Given the description of an element on the screen output the (x, y) to click on. 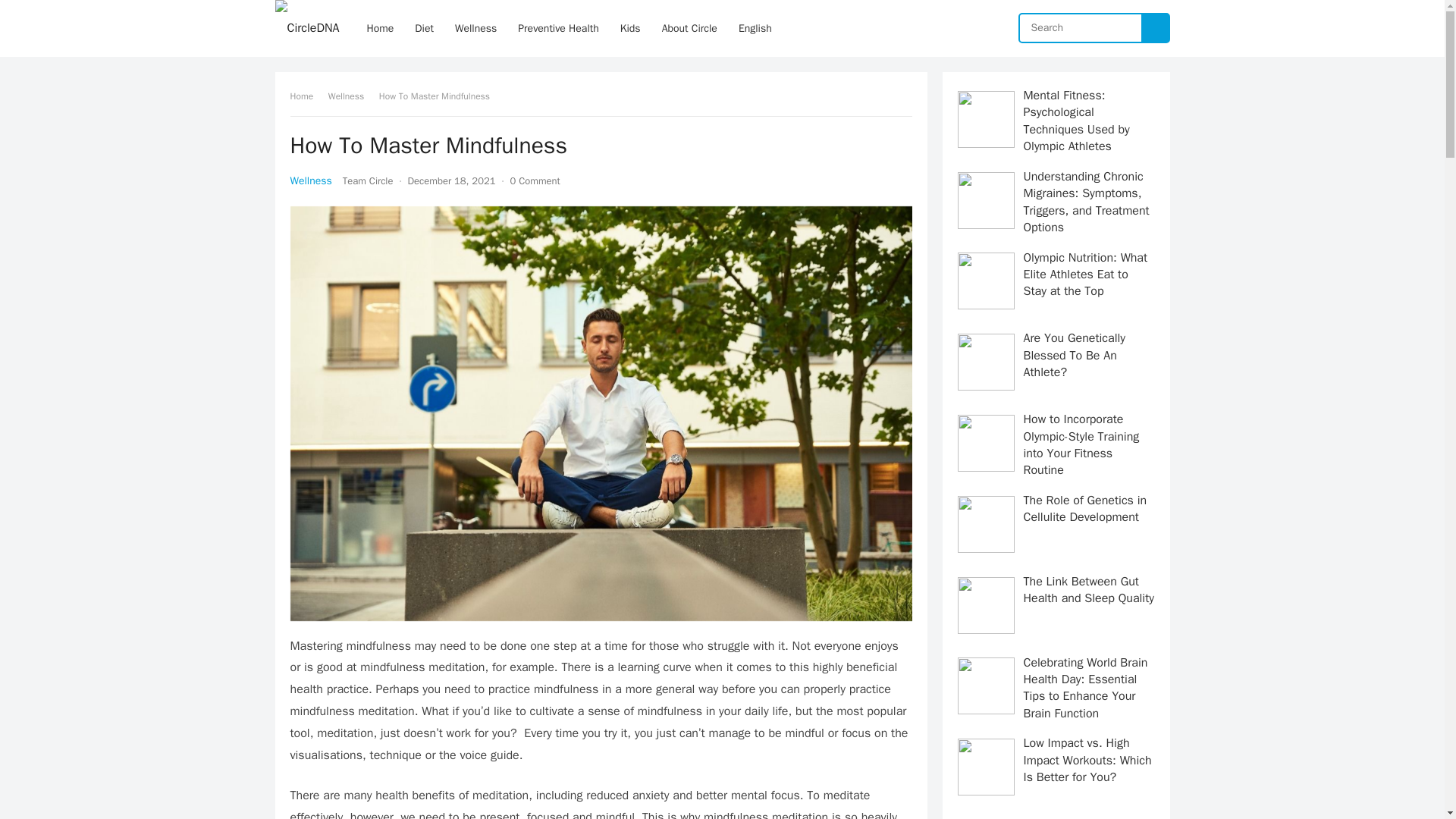
About Circle (689, 28)
Wellness (310, 180)
Wellness (351, 96)
English (754, 28)
Team Circle (367, 180)
Wellness (475, 28)
Posts by Team Circle (367, 180)
Home (306, 96)
Preventive Health (558, 28)
